Given the description of an element on the screen output the (x, y) to click on. 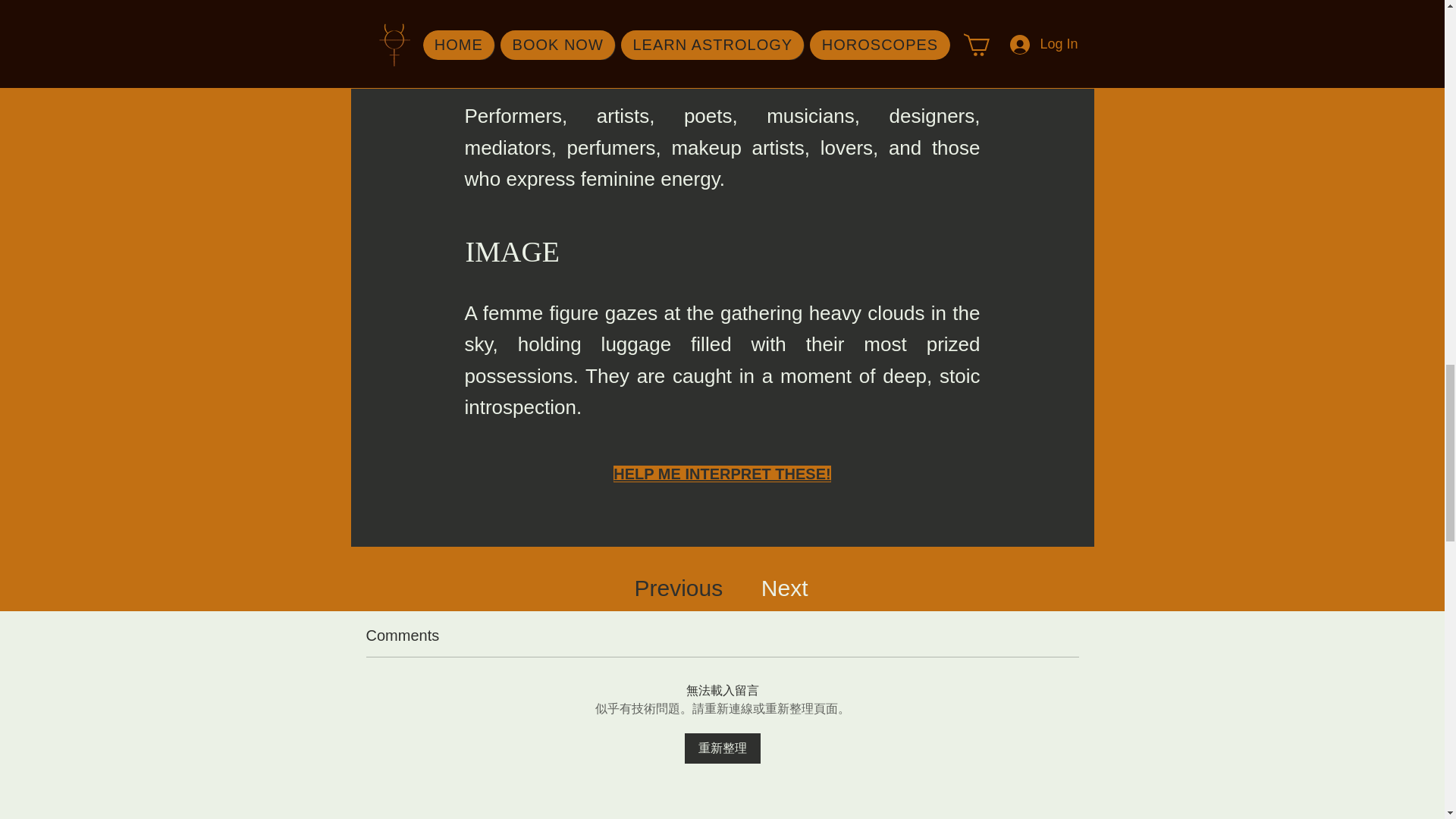
Previous (677, 588)
Next (784, 588)
HELP ME INTERPRET THESE! (720, 474)
